Given the description of an element on the screen output the (x, y) to click on. 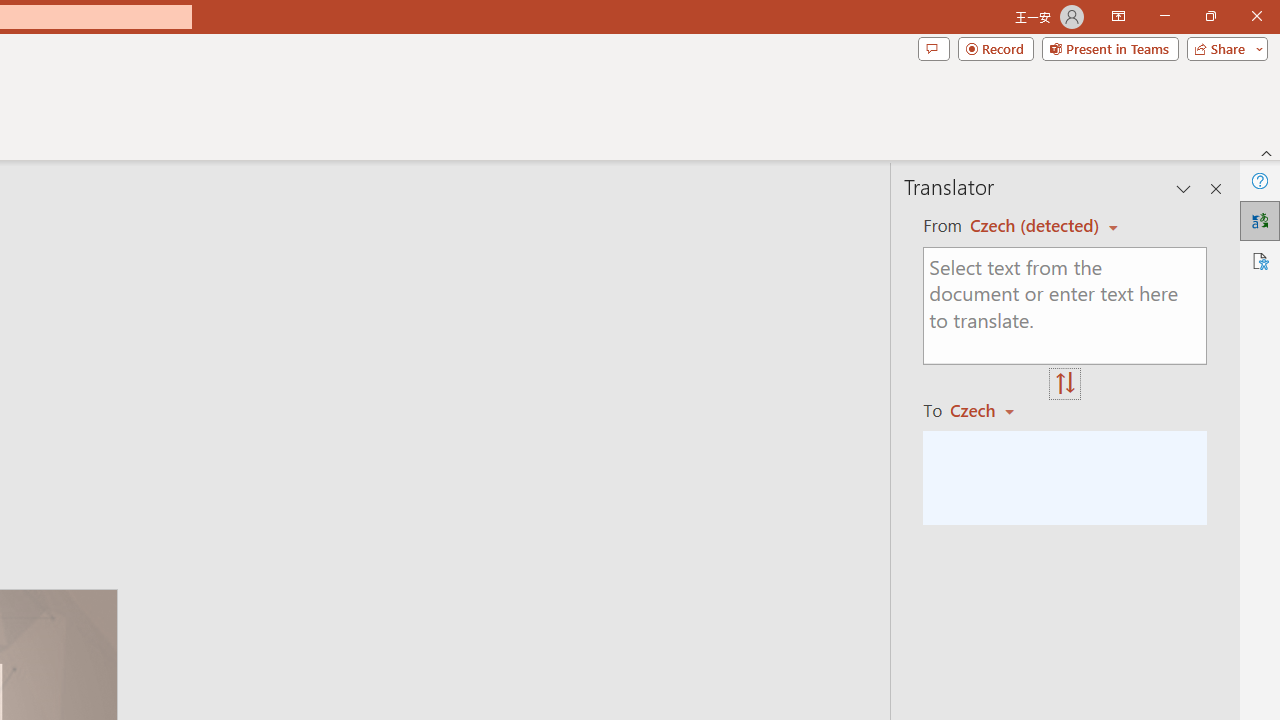
Czech (991, 409)
